Given the description of an element on the screen output the (x, y) to click on. 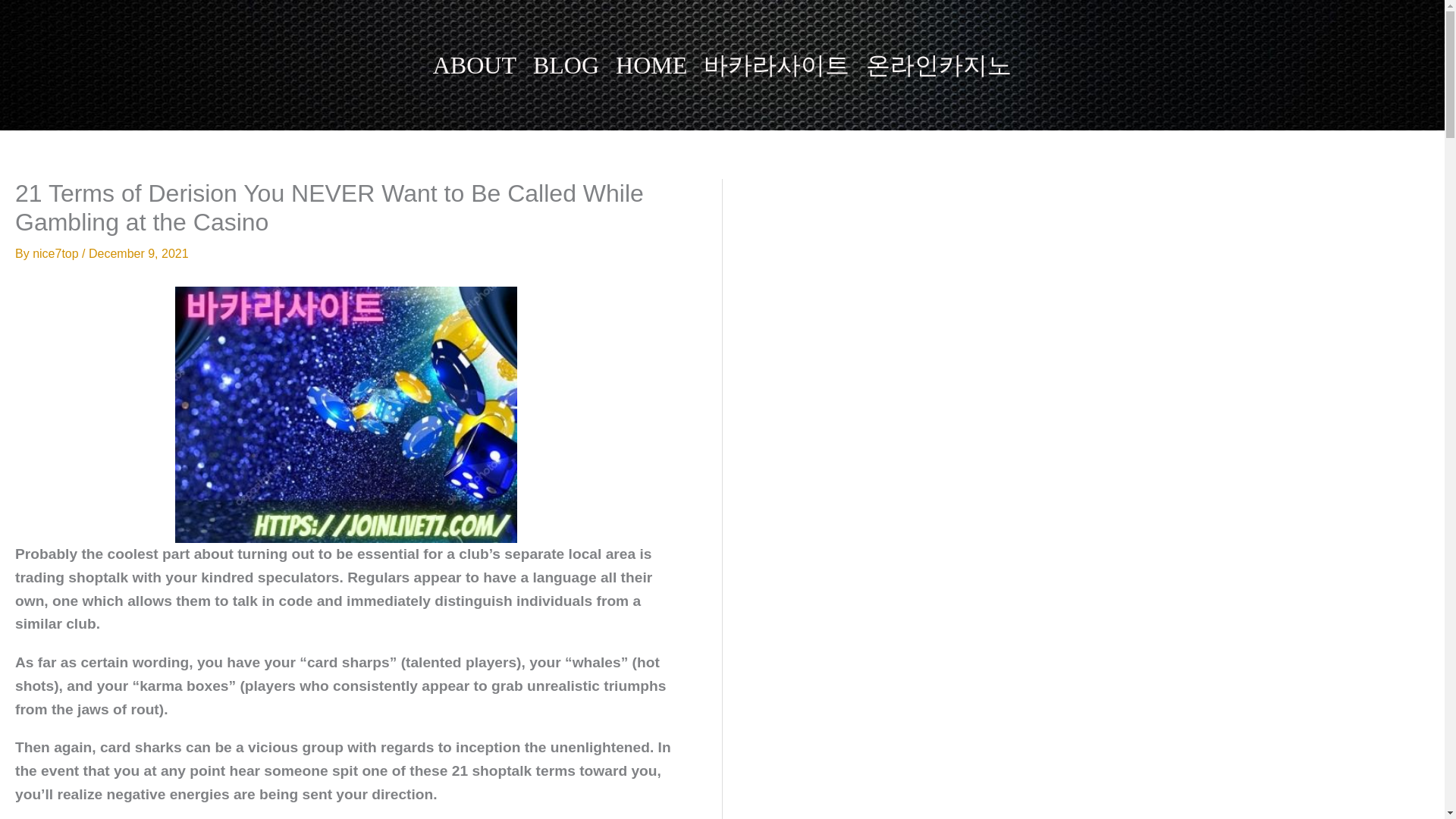
View all posts by nice7top (56, 253)
nice7top (56, 253)
